Given the description of an element on the screen output the (x, y) to click on. 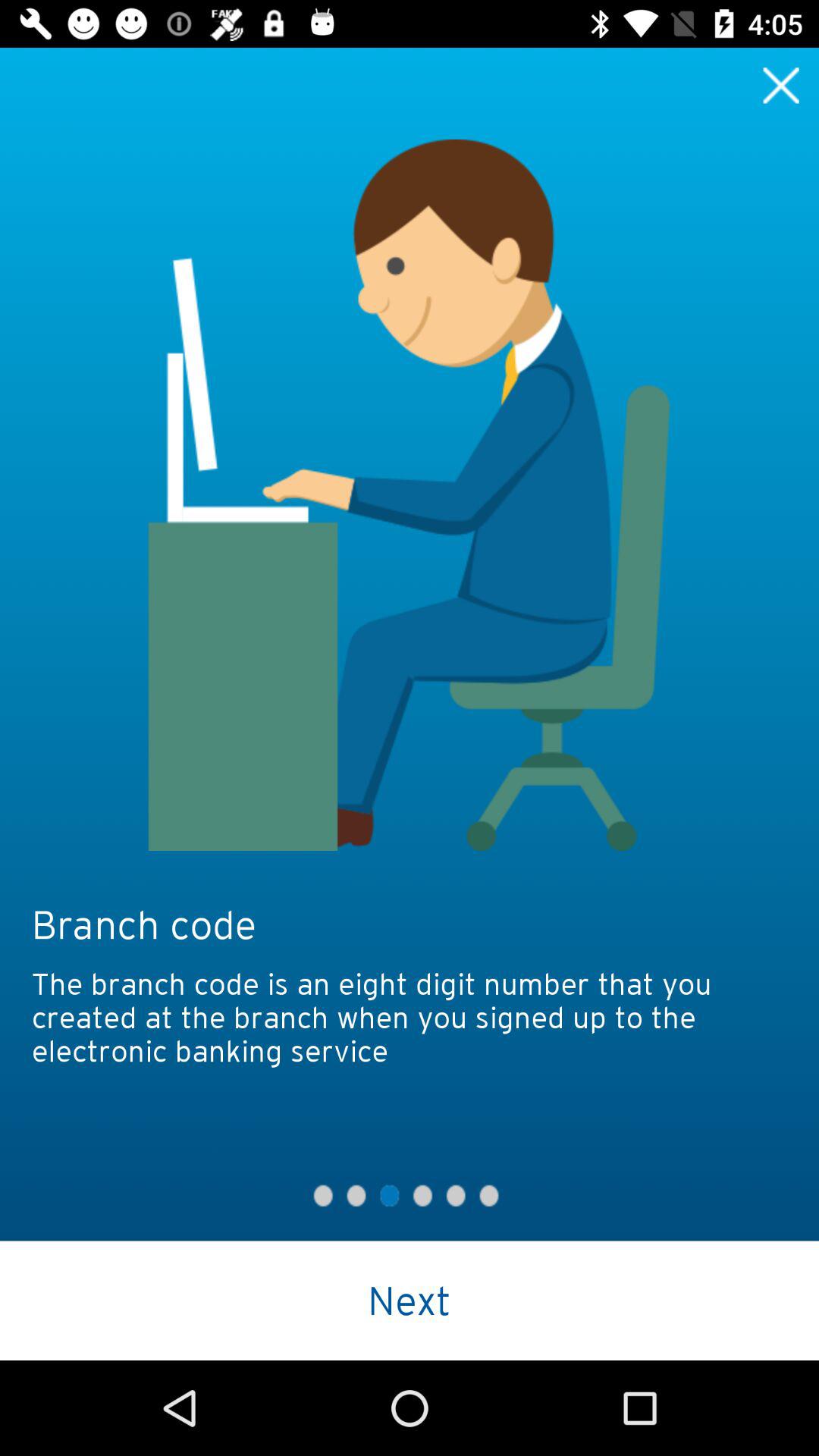
button to close the image (781, 85)
